Given the description of an element on the screen output the (x, y) to click on. 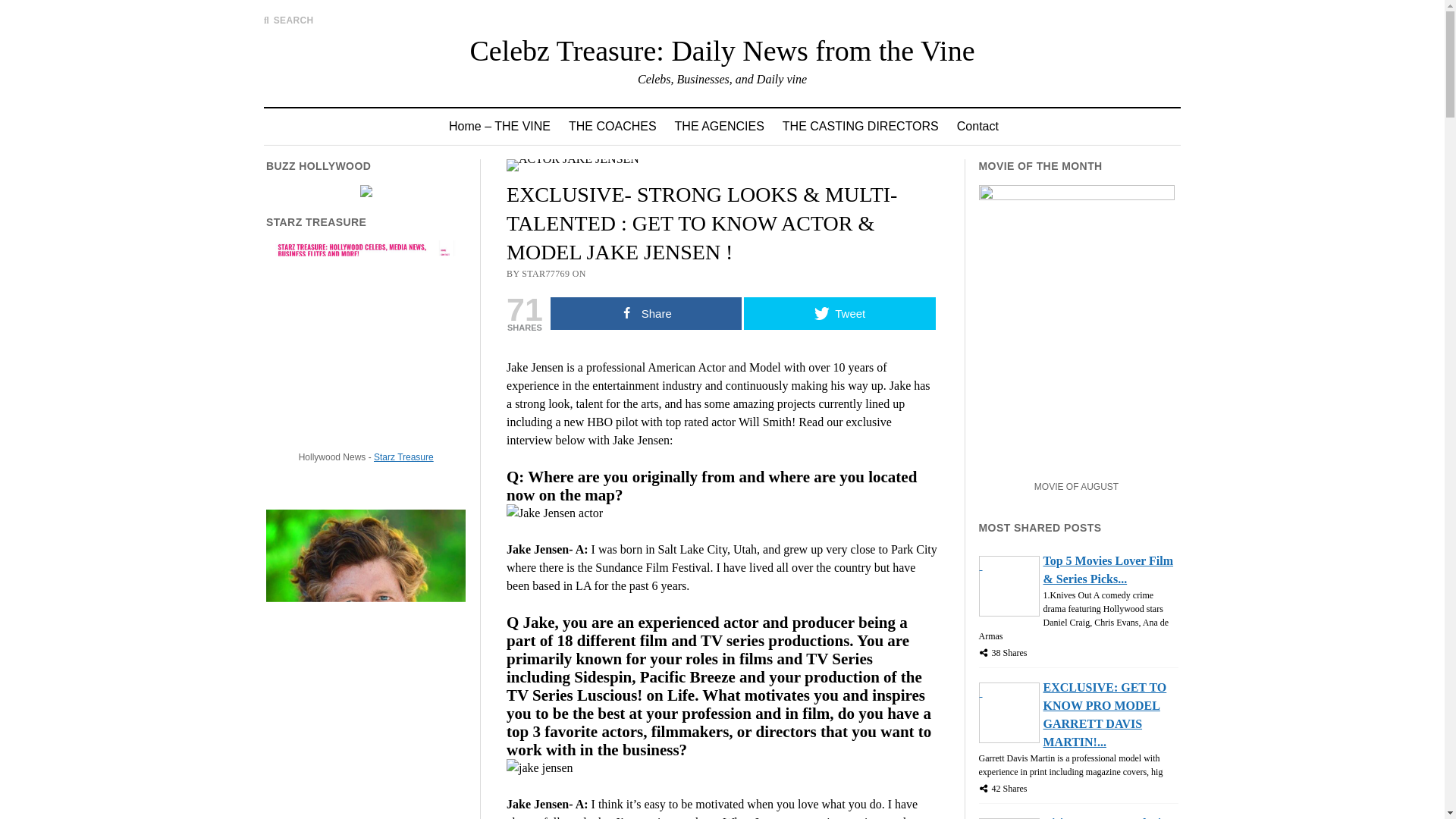
THE CASTING DIRECTORS (860, 126)
THE COACHES (612, 126)
Share (646, 313)
THE AGENCIES (719, 126)
Search (945, 129)
Tweet (840, 313)
Starz Treasure (403, 457)
Celebz Treasure: Daily News from the Vine (721, 50)
SEARCH (288, 20)
